Given the description of an element on the screen output the (x, y) to click on. 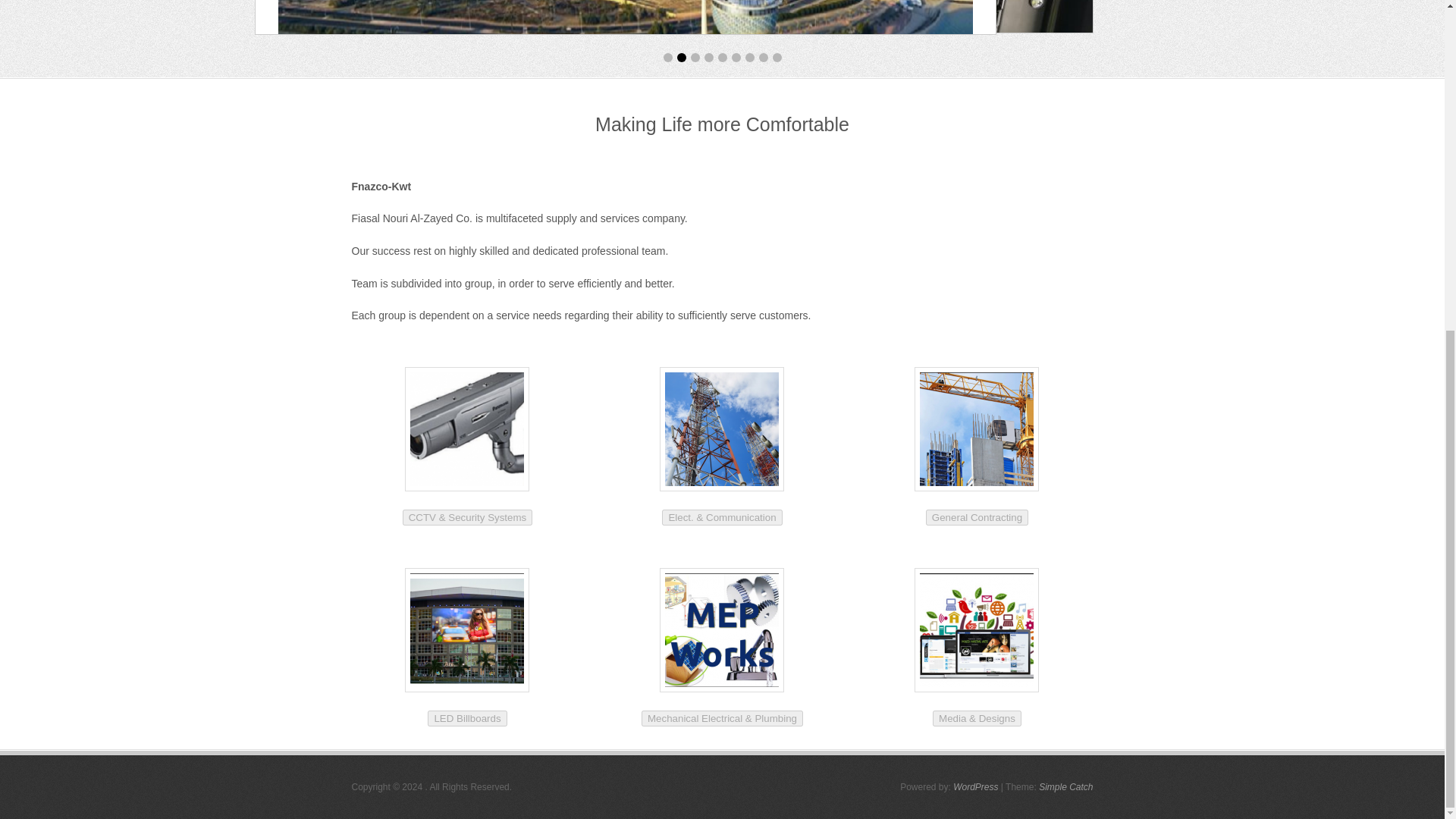
2 (681, 57)
General Contracting (976, 516)
4 (708, 57)
1 (666, 57)
9 (775, 57)
Kuwait-1 (625, 17)
Huwa-image (722, 16)
6 (734, 57)
5 (721, 57)
7 (749, 57)
Kuwait-1 (625, 17)
3 (694, 57)
8 (762, 57)
